Given the description of an element on the screen output the (x, y) to click on. 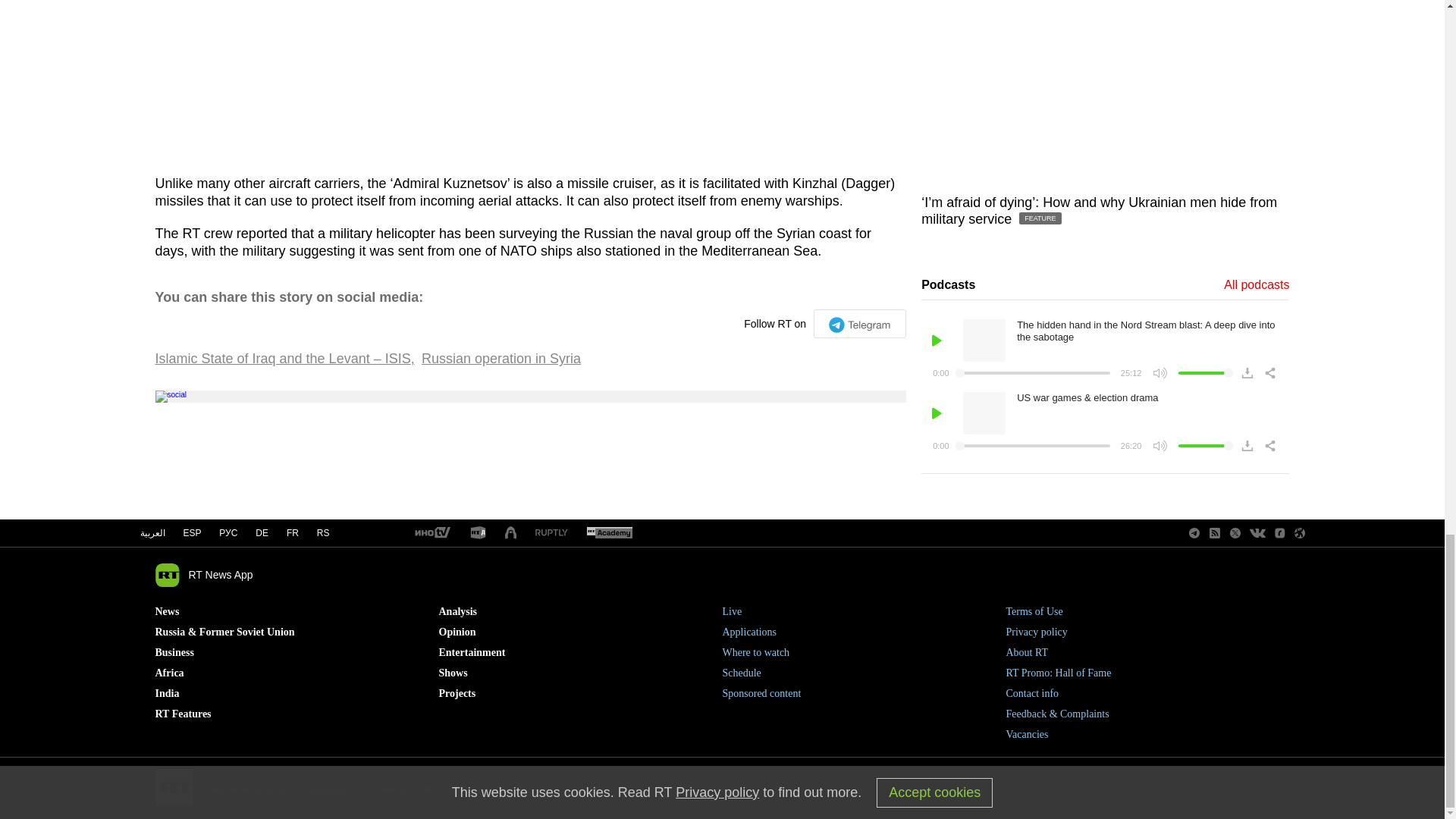
RT  (431, 533)
RT  (608, 533)
RT  (478, 533)
RT  (551, 533)
